Given the description of an element on the screen output the (x, y) to click on. 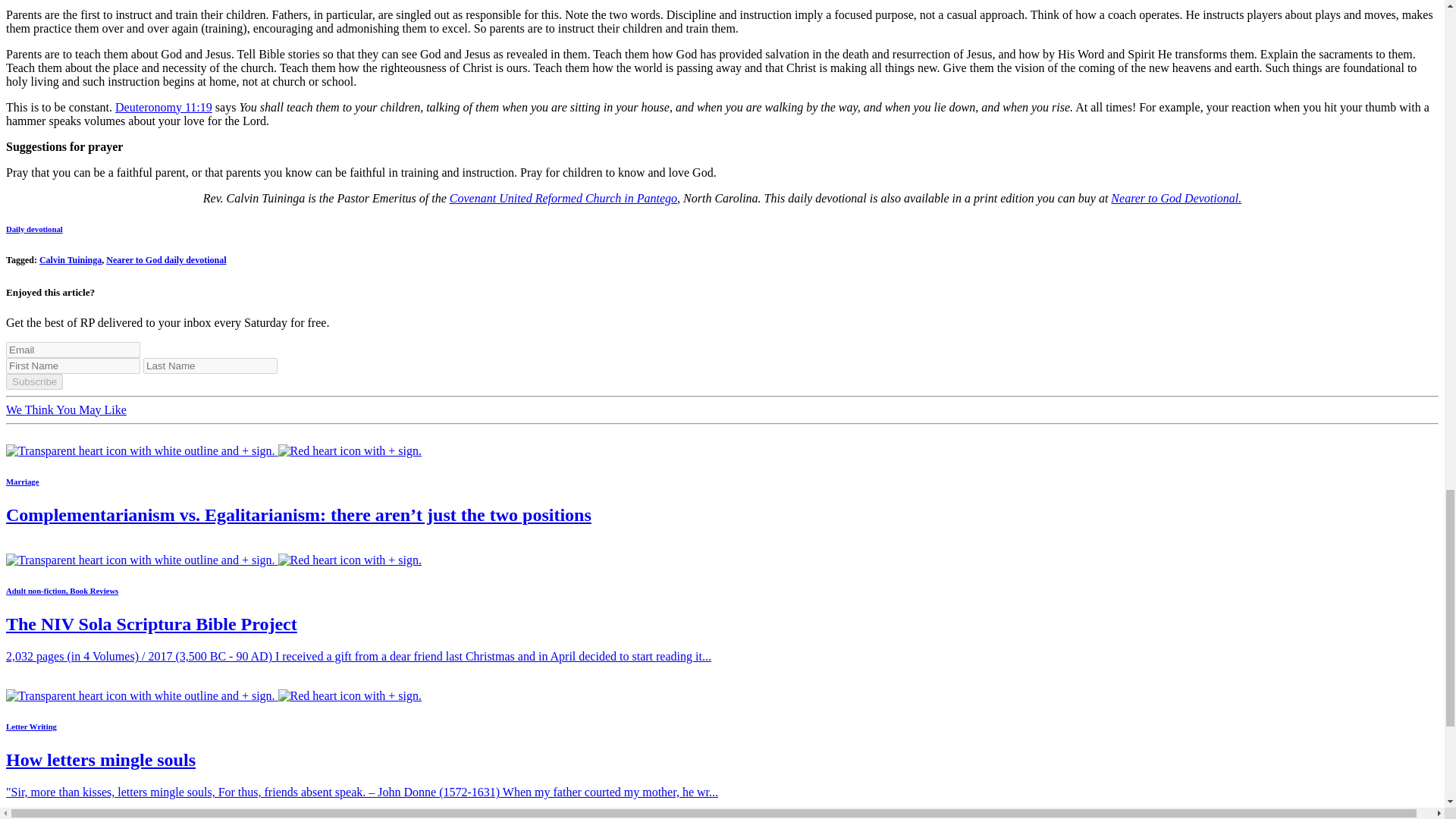
Subscribe to RP (213, 559)
Subscribe to RP (213, 695)
Deuteronomy 11:19 (163, 106)
Subscribe to RP (213, 450)
Nearer to God Devotional. (1175, 197)
Subscribe (33, 381)
Covenant United Reformed Church in Pantego (563, 197)
